Given the description of an element on the screen output the (x, y) to click on. 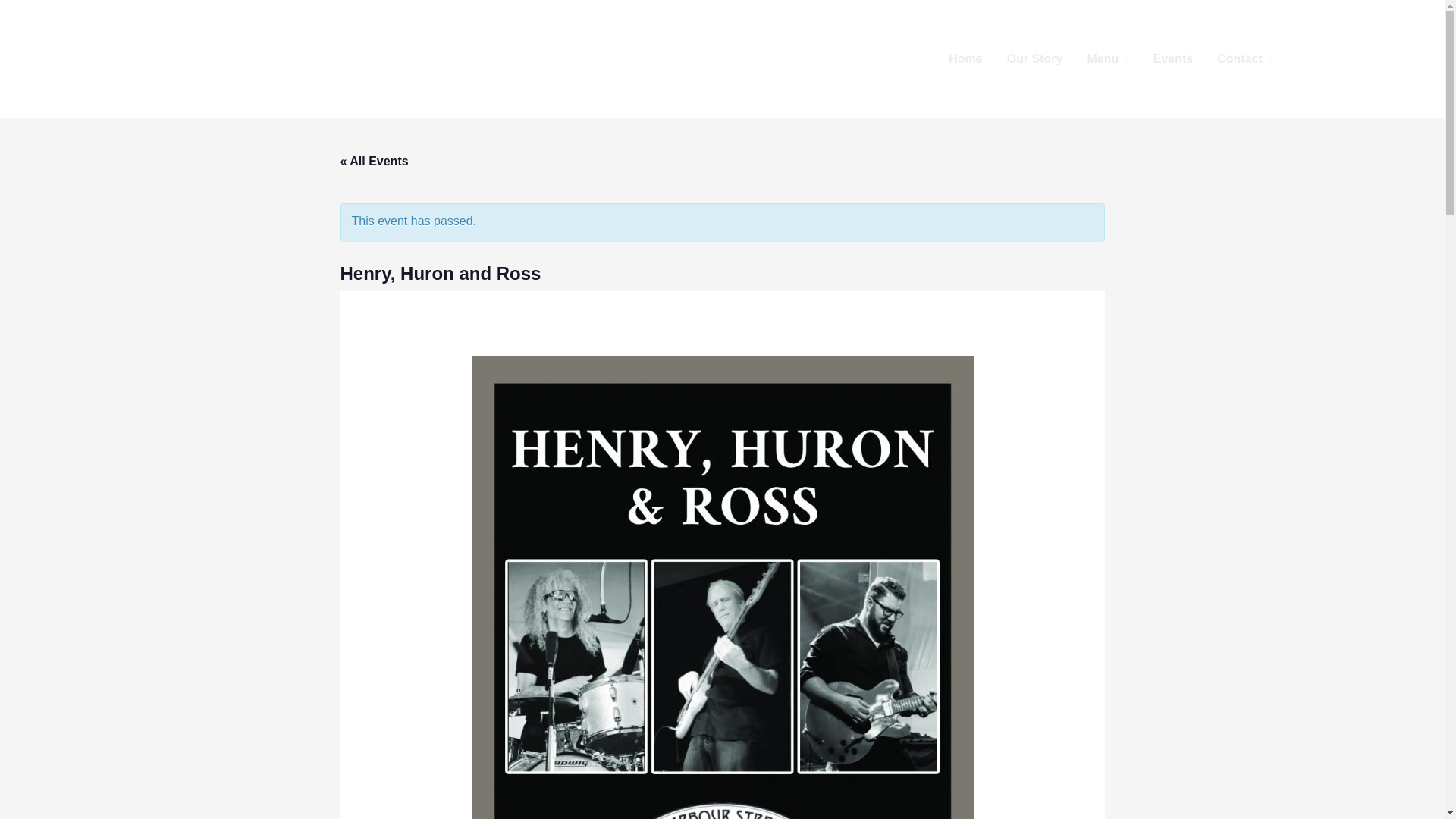
LIVE MUSIC (1364, 59)
Home (965, 58)
Menu (1107, 58)
Contact (1244, 58)
Our Story (1034, 58)
Events (1173, 58)
